Given the description of an element on the screen output the (x, y) to click on. 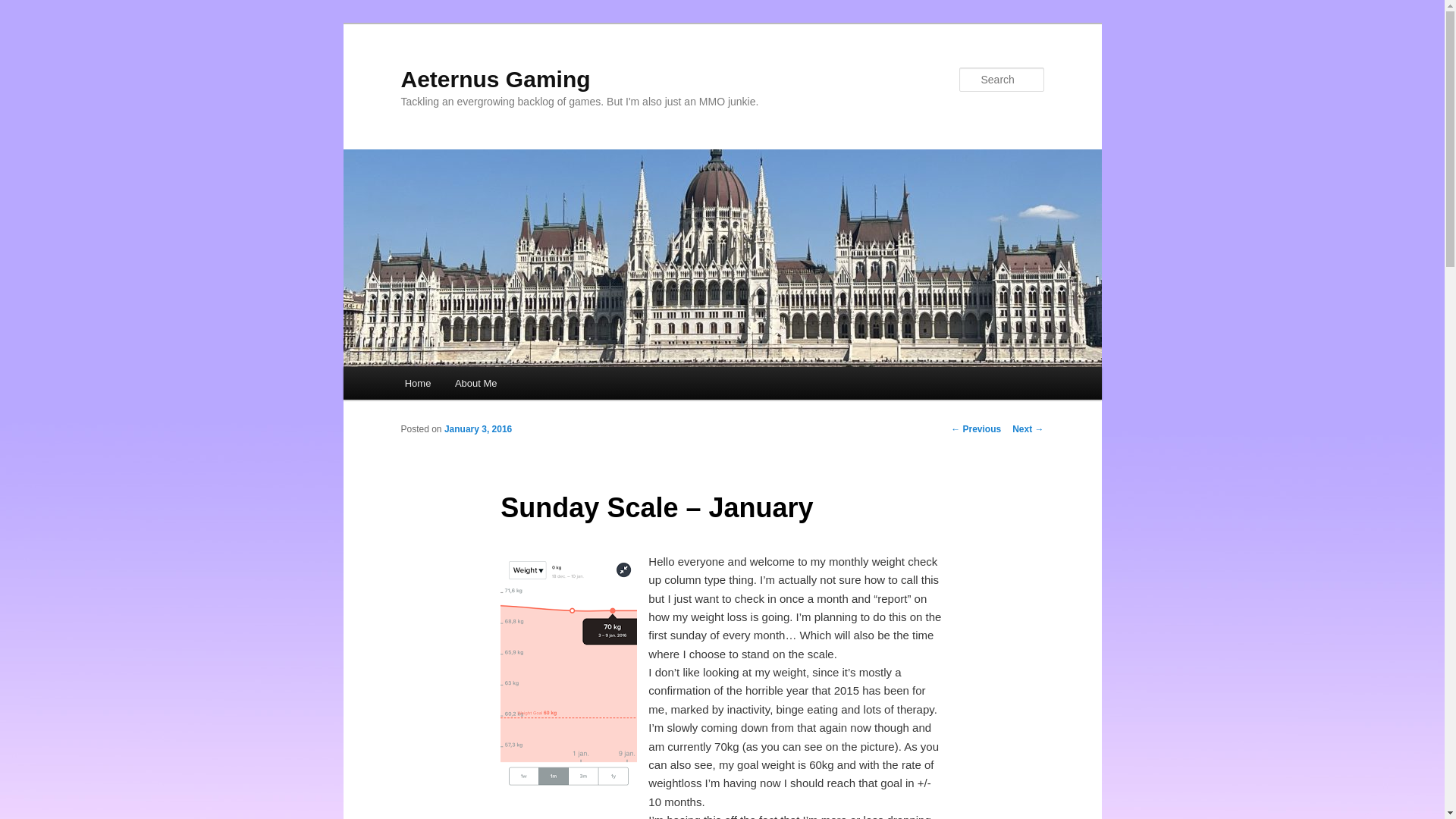
Search (24, 8)
About Me (475, 382)
Home (417, 382)
12:45 pm (478, 429)
January 3, 2016 (478, 429)
Aeternus Gaming (494, 78)
